Given the description of an element on the screen output the (x, y) to click on. 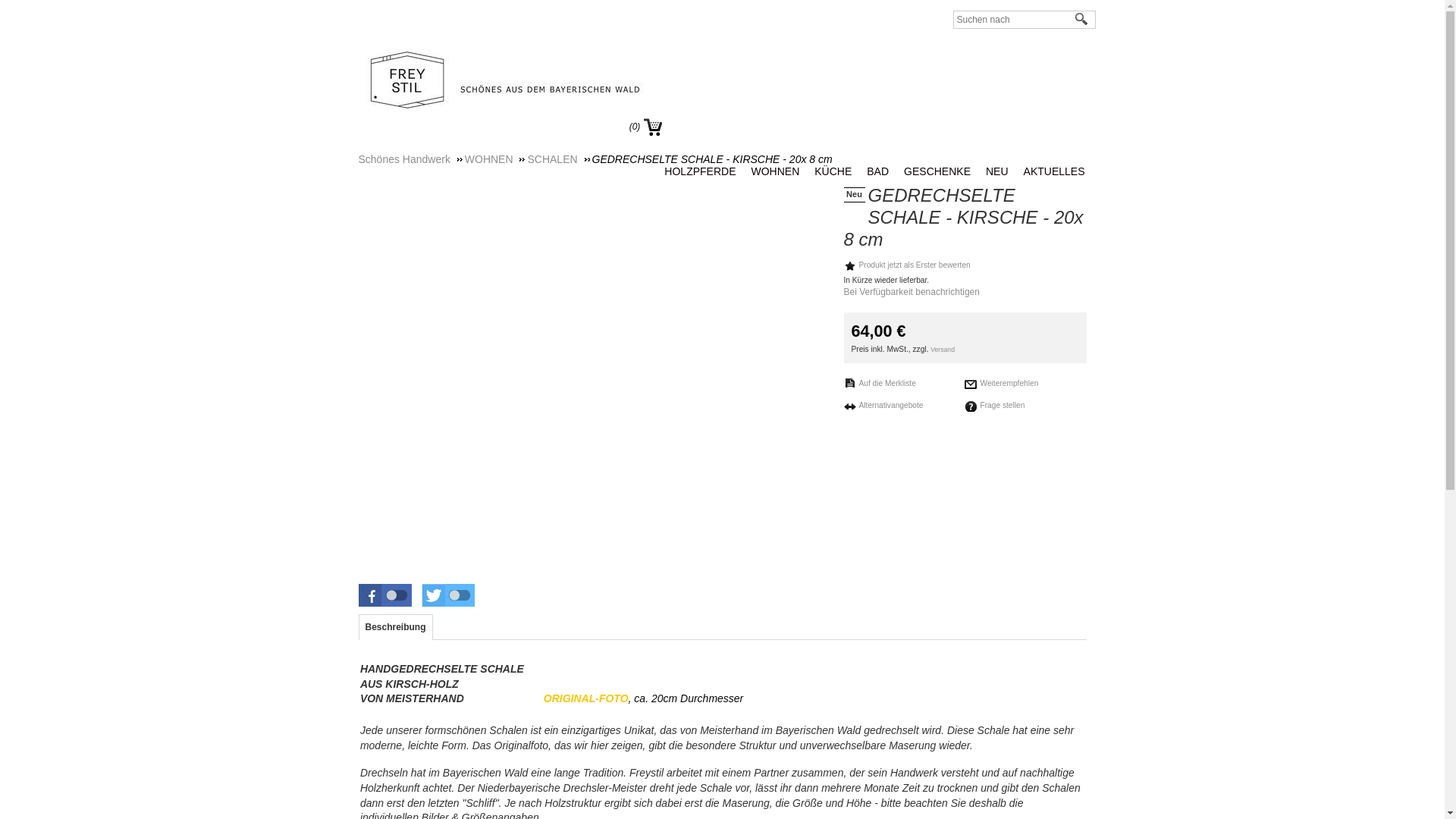
GESCHENKE Element type: text (940, 171)
AKTUELLES Element type: text (1057, 171)
Produkt jetzt als Erster bewerten Element type: text (906, 265)
Suche starten Element type: hover (1081, 20)
WOHNEN Element type: text (494, 159)
Auf die Merkliste Element type: text (879, 382)
Frage stellen Element type: text (994, 405)
WOHNEN Element type: text (778, 171)
BAD Element type: text (881, 171)
Weiterempfehlen Element type: text (1001, 383)
HOLZPFERDE Element type: text (703, 171)
Alternativangebote Element type: text (882, 404)
NEU Element type: text (1000, 171)
Beschreibung Element type: text (395, 627)
SCHALEN Element type: text (558, 159)
Versand Element type: text (942, 349)
